Given the description of an element on the screen output the (x, y) to click on. 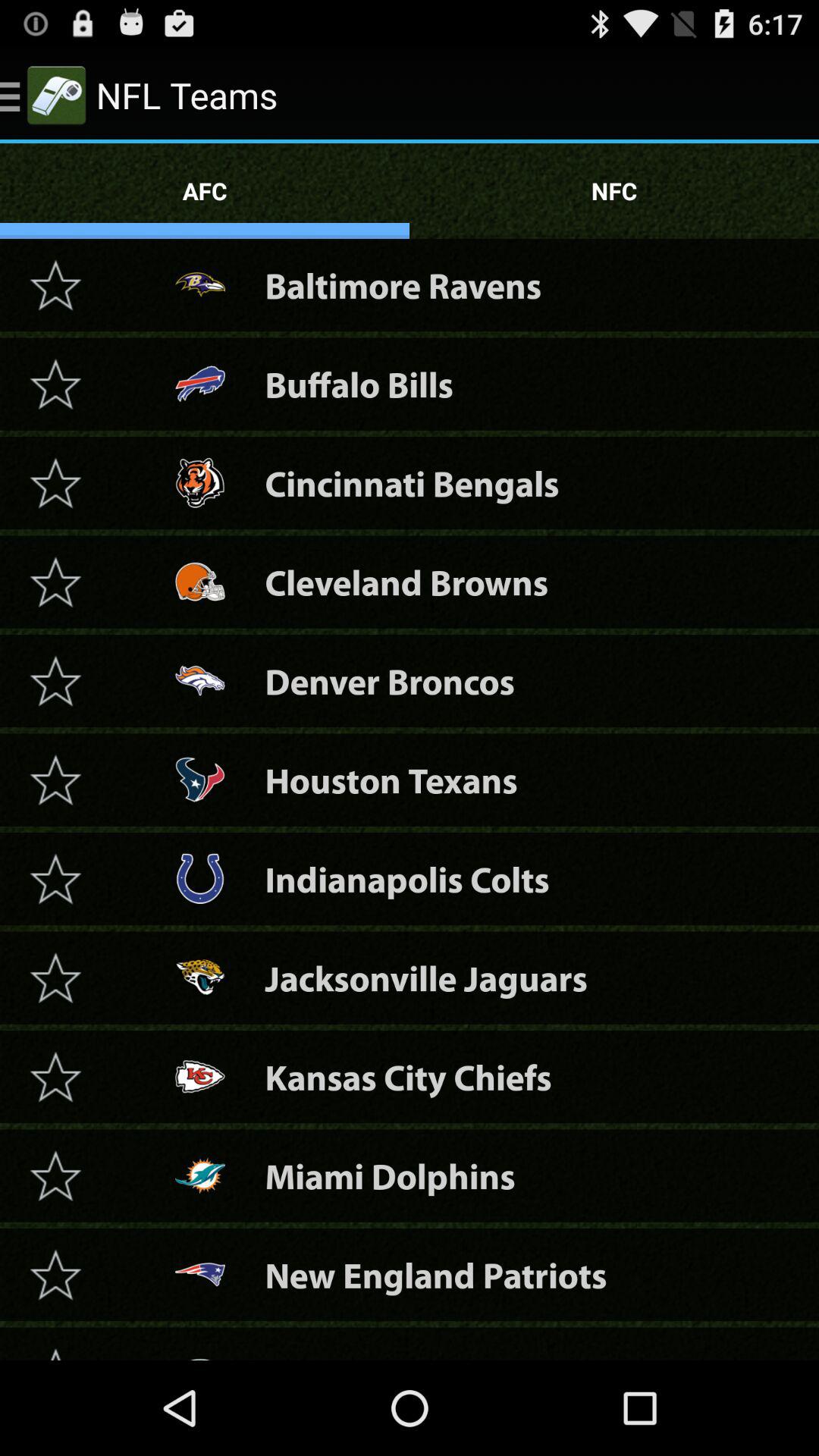
open the icon below houston texans (407, 878)
